Given the description of an element on the screen output the (x, y) to click on. 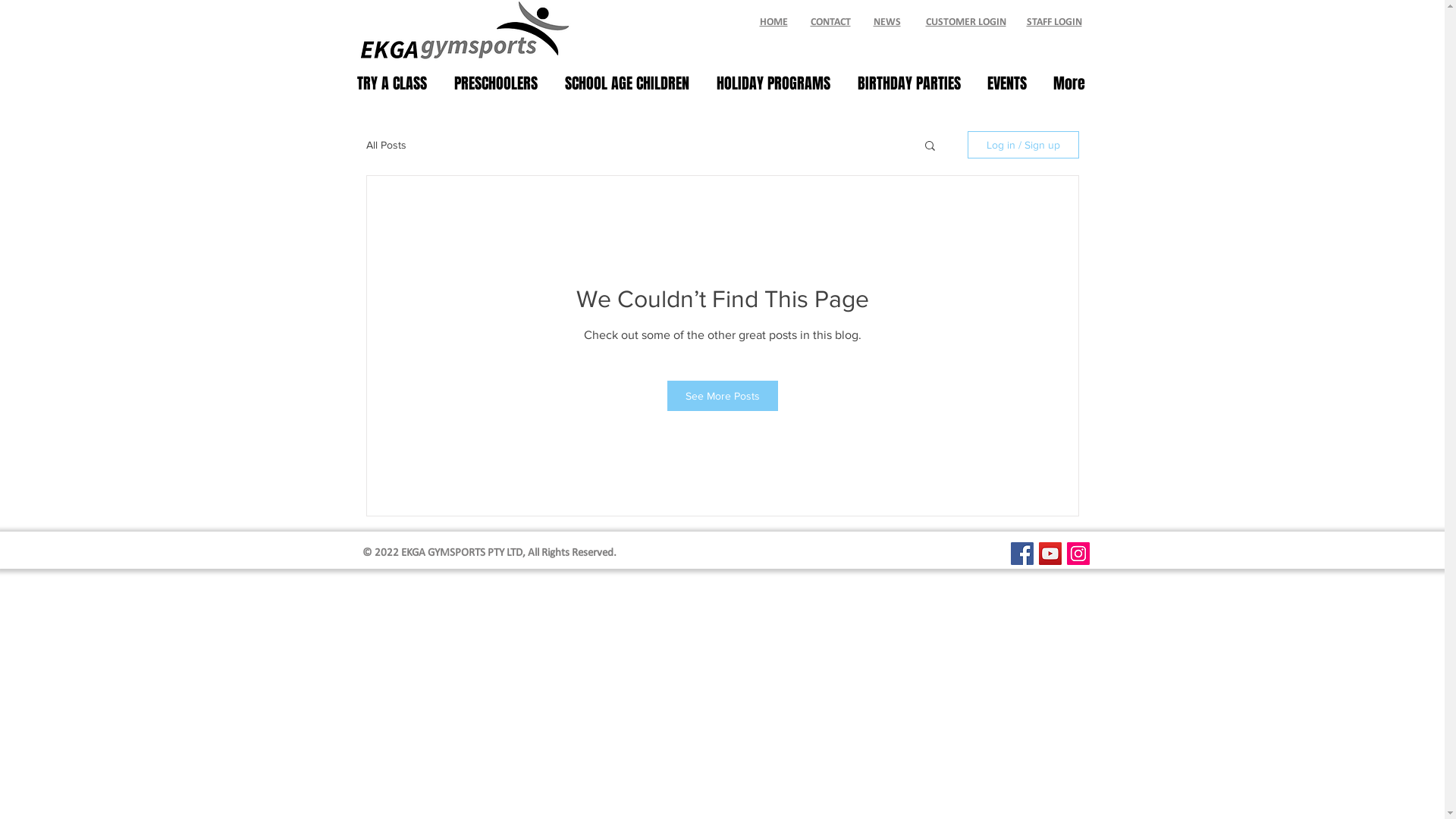
NEWS Element type: text (886, 22)
See More Posts Element type: text (722, 395)
Log in / Sign up Element type: text (1023, 144)
STAFF LOGIN Element type: text (1054, 22)
All Posts Element type: text (385, 144)
TRY A CLASS Element type: text (393, 83)
CONTACT Element type: text (829, 22)
HOLIDAY PROGRAMS Element type: text (775, 83)
CUSTOMER LOGIN Element type: text (965, 22)
HOME Element type: text (773, 22)
